Given the description of an element on the screen output the (x, y) to click on. 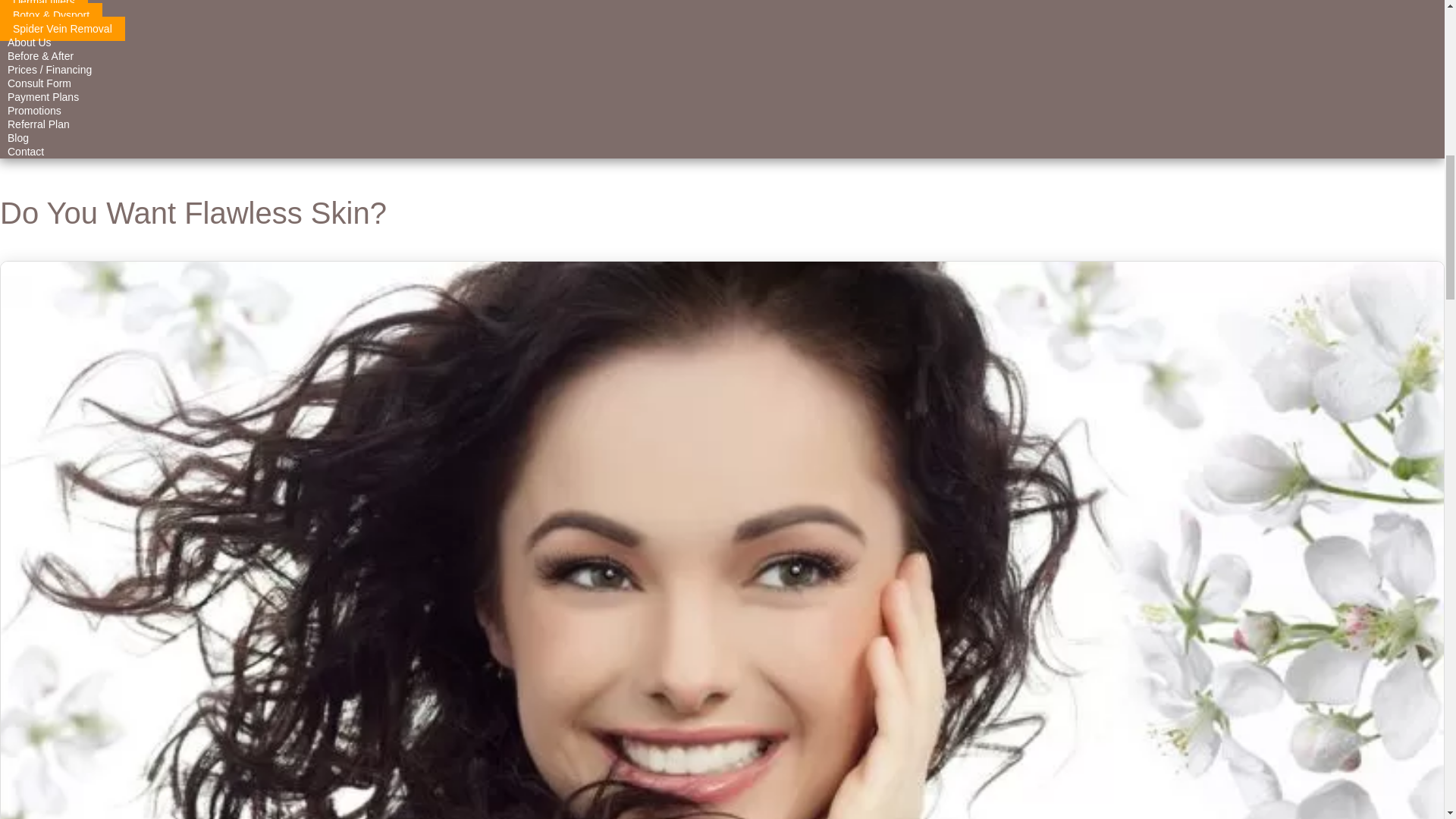
Dermal fillers (43, 6)
Spider Vein Removal (62, 28)
About Us (29, 42)
